Given the description of an element on the screen output the (x, y) to click on. 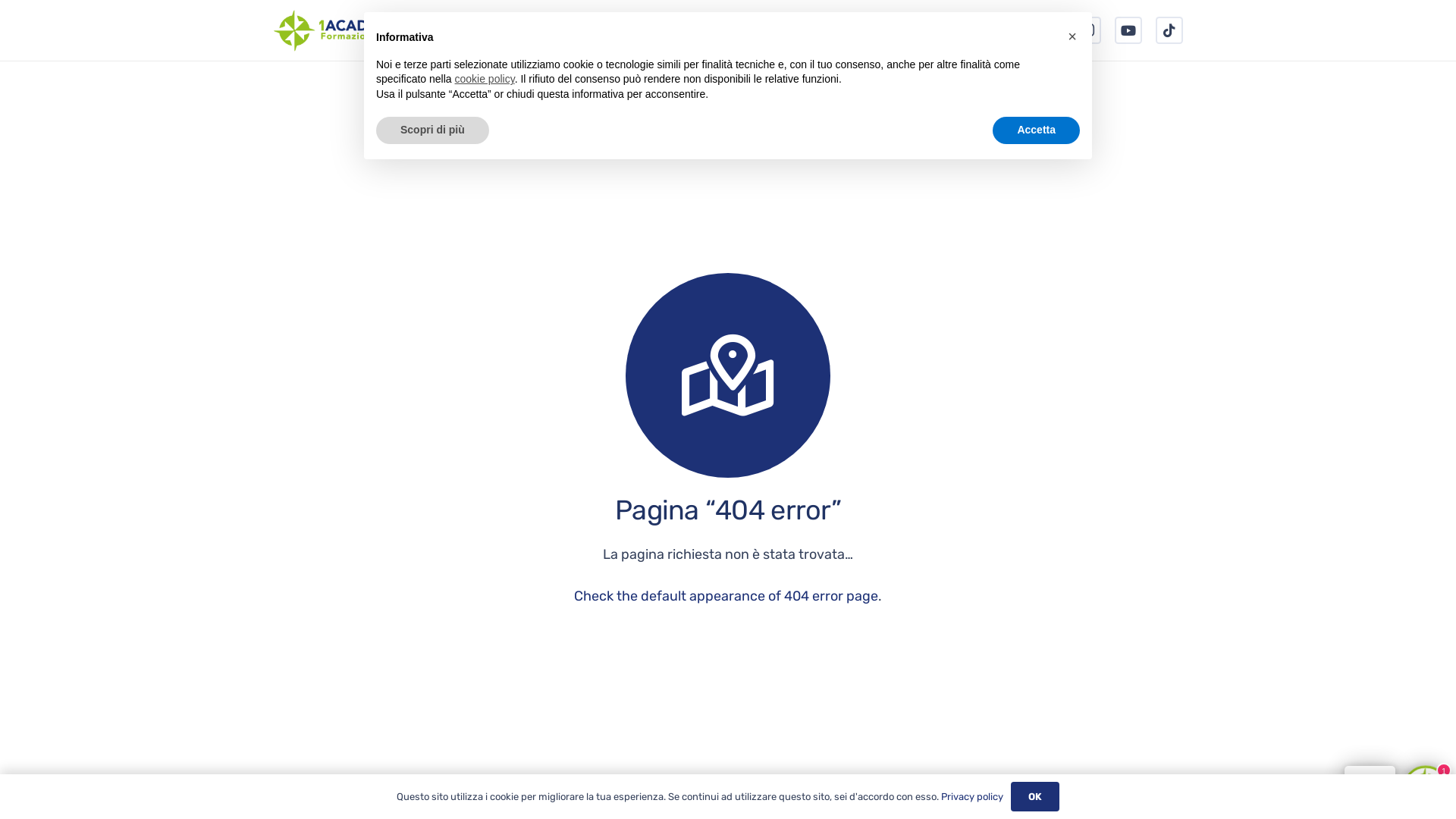
Chi siamo Element type: text (645, 30)
Instagram Element type: hover (1087, 29)
Home Element type: text (566, 30)
OK Element type: text (1035, 796)
Facebook Element type: hover (1046, 29)
Check the default appearance of 404 error page Element type: text (726, 595)
Carriera Element type: text (793, 30)
cookie policy Element type: text (484, 78)
YouTube Element type: hover (1128, 29)
FAQ Element type: text (862, 30)
Contatti Element type: text (931, 30)
Corsi Element type: text (722, 30)
Privacy policy Element type: text (972, 796)
TikTok Element type: hover (1169, 29)
LinkedIn Element type: hover (1005, 29)
Accetta Element type: text (1035, 130)
